Given the description of an element on the screen output the (x, y) to click on. 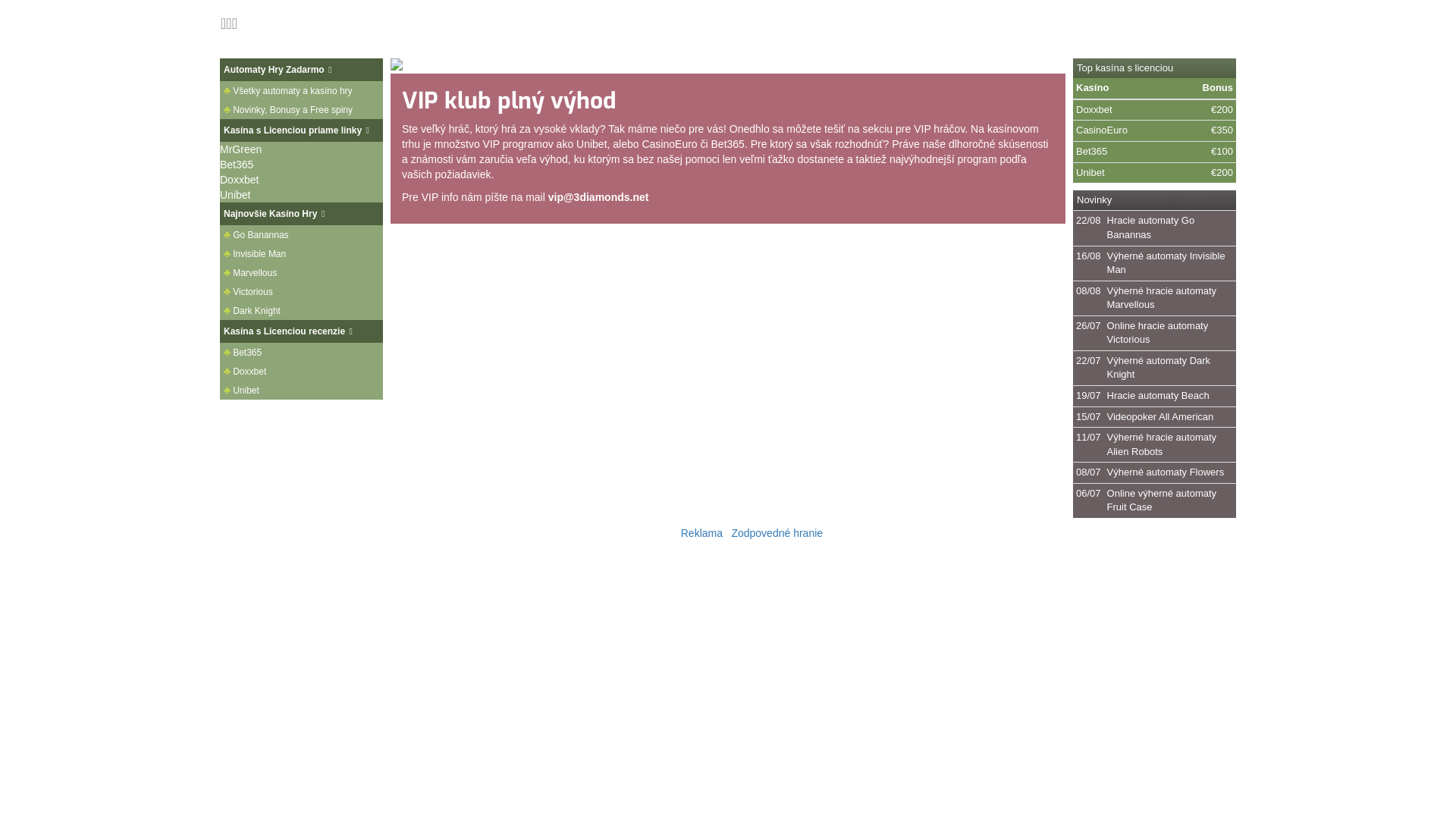
Online hracie automaty Victorious Element type: text (1157, 332)
Videopoker All American Element type: text (1160, 416)
Hracie automaty Go Banannas Element type: text (1151, 227)
Invisible Man Element type: text (300, 253)
Go Banannas Element type: text (300, 234)
Dark Knight Element type: text (300, 310)
Marvellous Element type: text (300, 272)
Novinky Element type: text (1154, 199)
NOVINKY A BONUSY Element type: text (528, 23)
Victorious Element type: text (300, 291)
Novinky, Bonusy a Free spiny Element type: text (300, 109)
Automaty Hry Zadarmo Element type: text (300, 69)
Unibet Element type: text (300, 389)
Doxxbet Element type: text (300, 370)
Bet365 Element type: text (300, 351)
Reklama Element type: text (701, 533)
Hracie automaty Beach Element type: text (1158, 395)
